Given the description of an element on the screen output the (x, y) to click on. 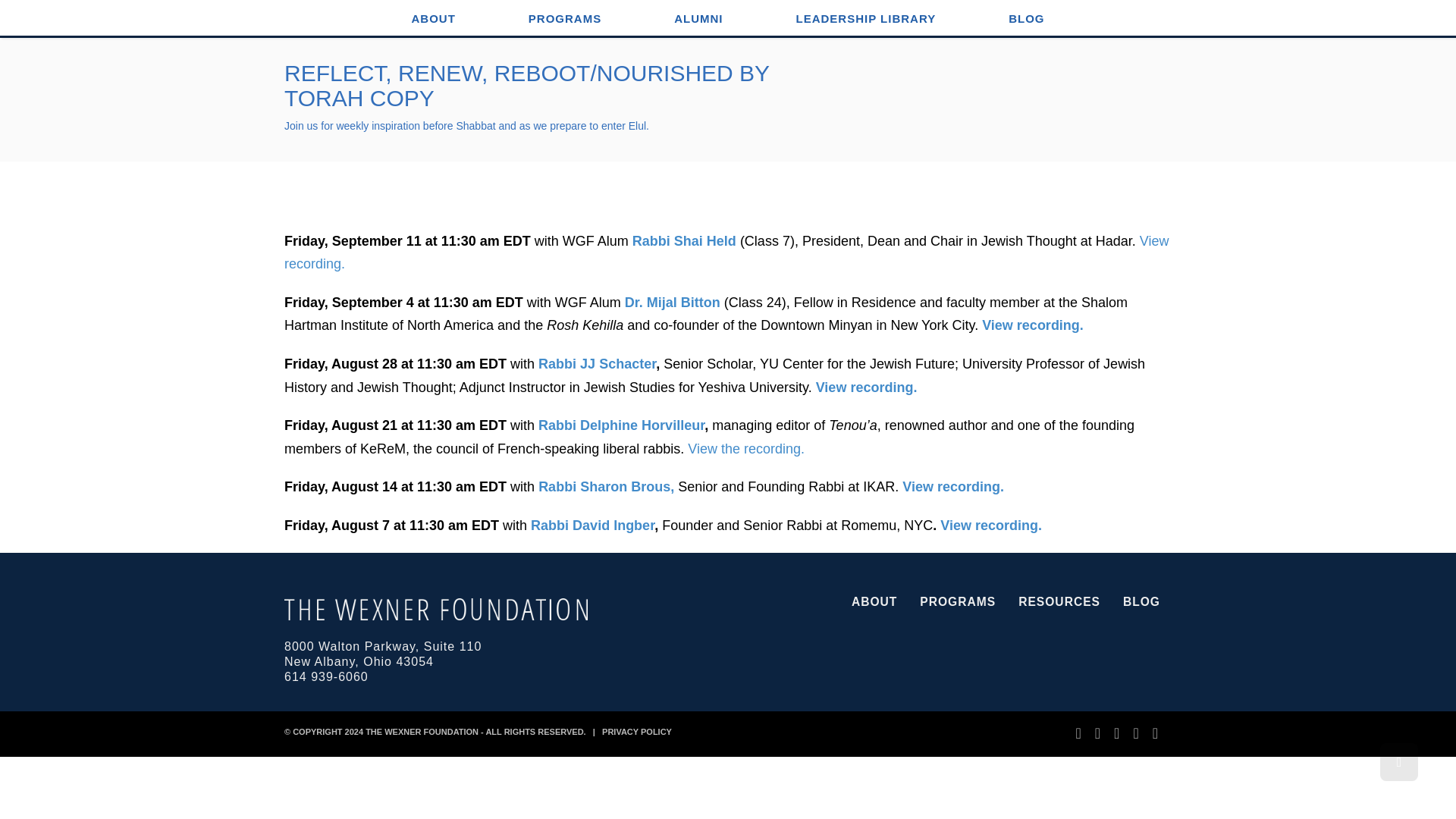
ALUMNI (698, 18)
ABOUT (432, 18)
PROGRAMS (564, 18)
BLOG (1026, 18)
LEADERSHIP LIBRARY (865, 18)
